Given the description of an element on the screen output the (x, y) to click on. 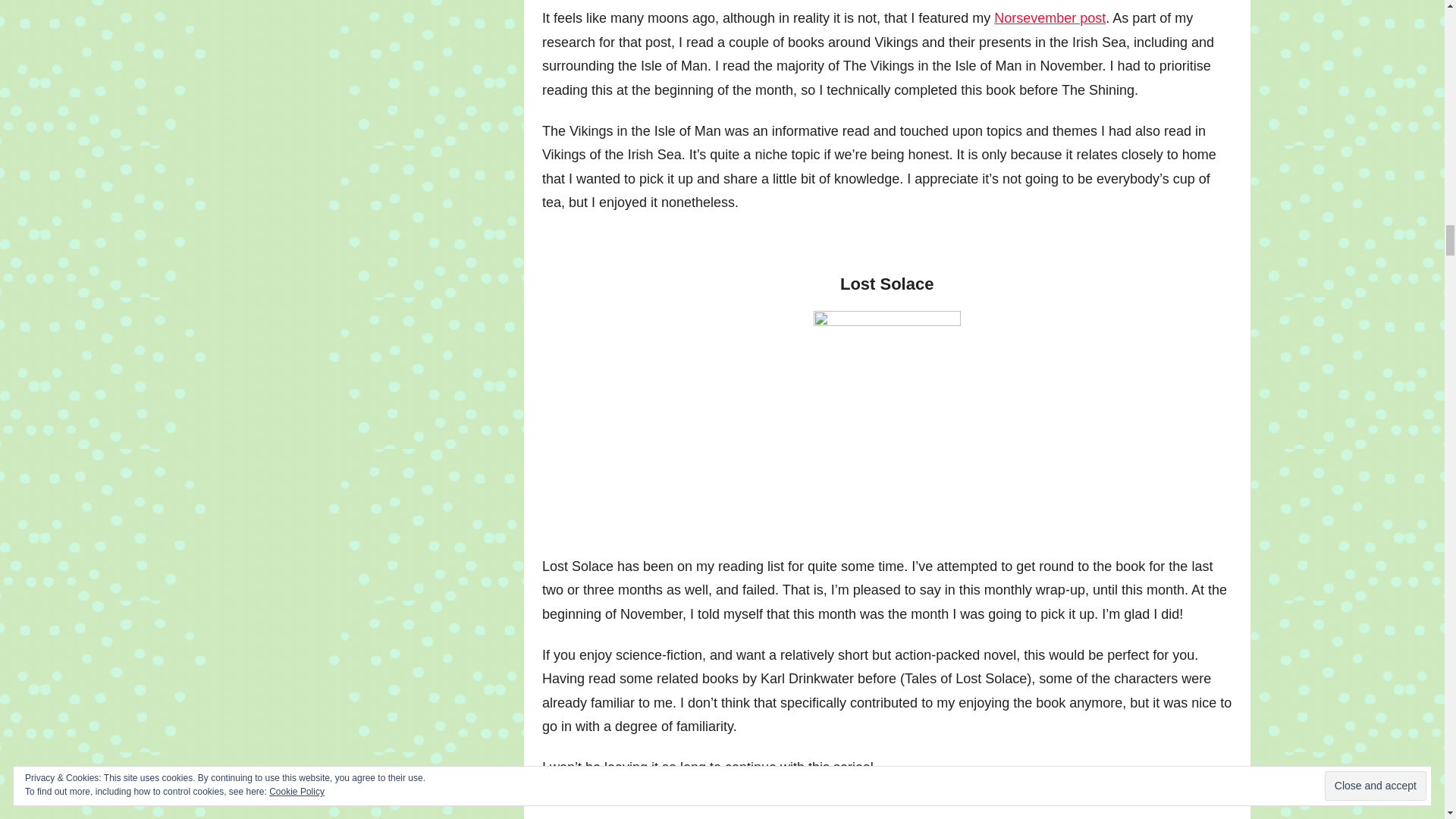
Norsevember post (1049, 17)
